Given the description of an element on the screen output the (x, y) to click on. 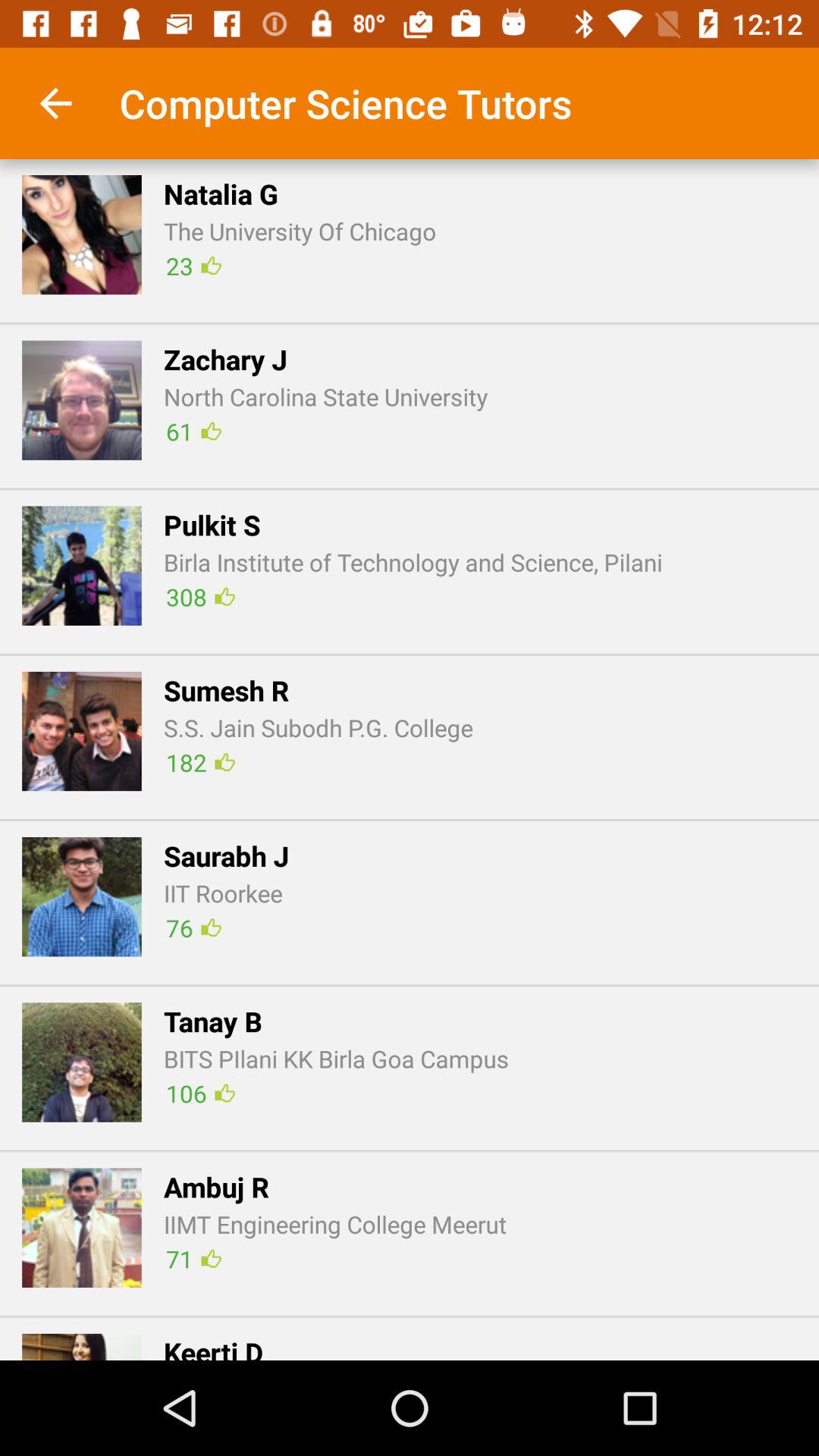
jump to the 106 (200, 1093)
